Given the description of an element on the screen output the (x, y) to click on. 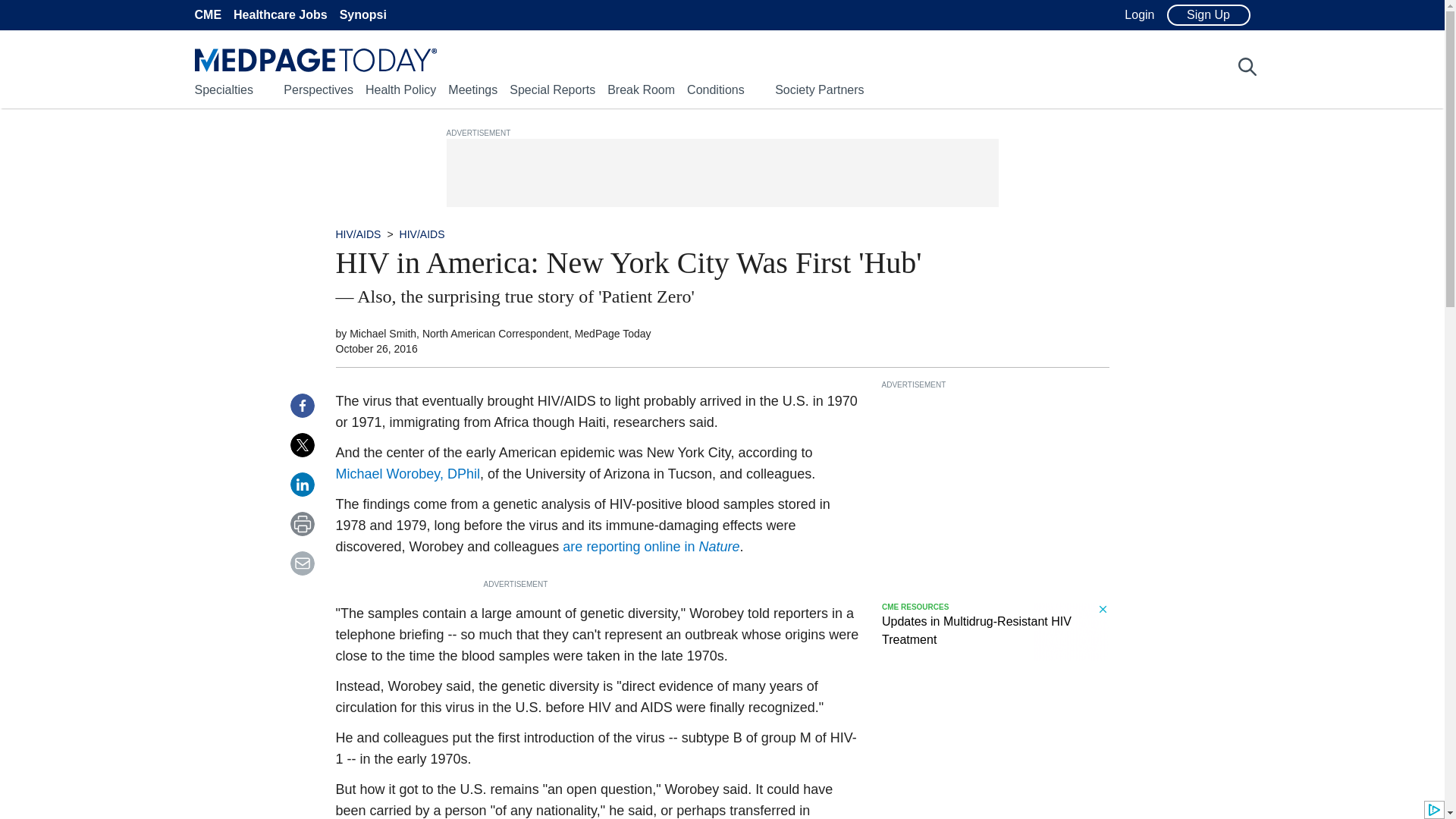
3rd party ad content (994, 484)
3rd party ad content (994, 631)
Opens in a new tab or window (406, 473)
Healthcare Jobs (279, 15)
Specialties (222, 89)
Synopsi (363, 15)
Share on Facebook. Opens in a new tab or window (301, 405)
CME (207, 15)
3rd party ad content (721, 172)
Opens in a new tab or window (650, 546)
